Given the description of an element on the screen output the (x, y) to click on. 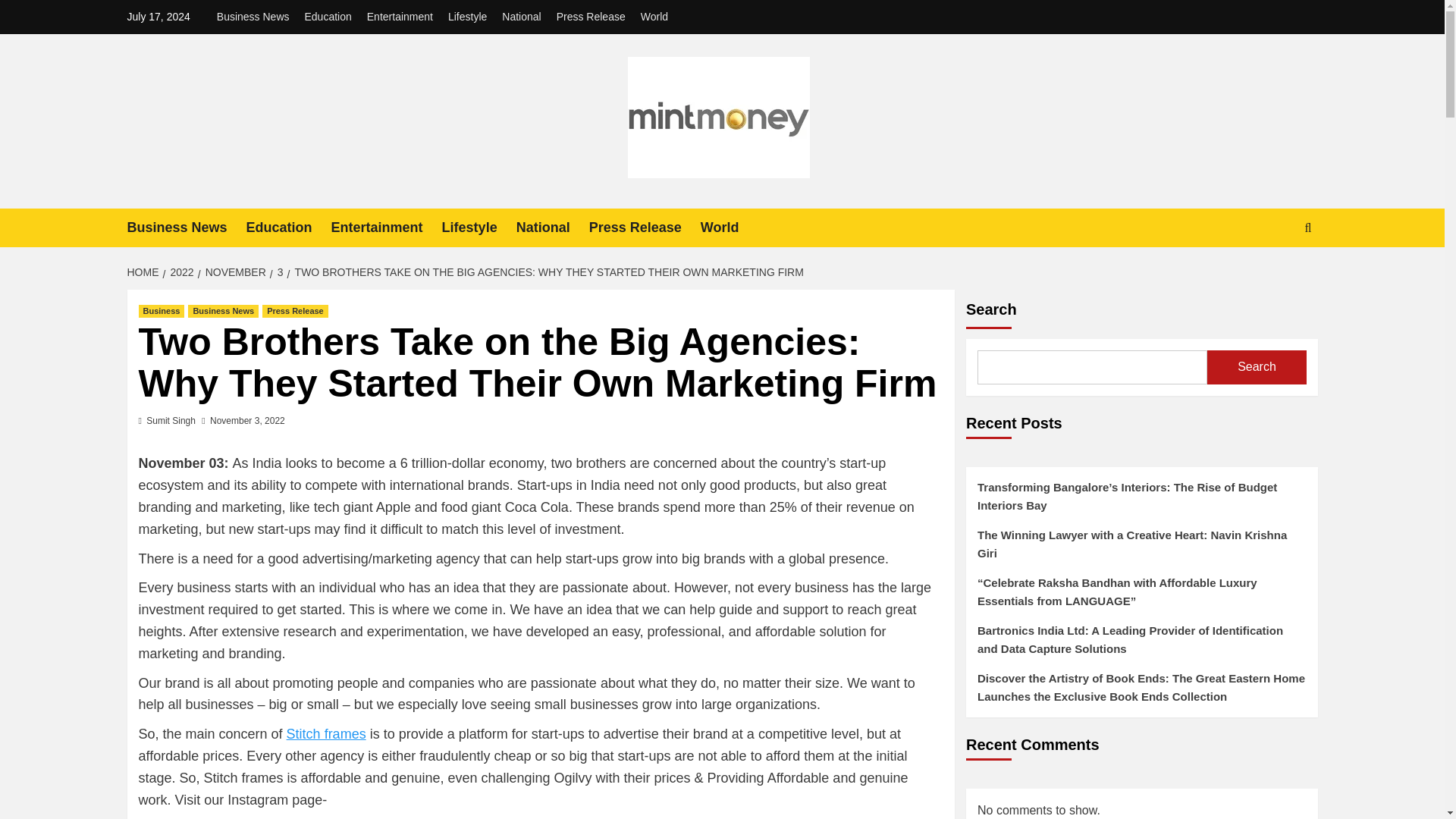
Business (161, 310)
Press Release (295, 310)
Press Release (590, 17)
Entertainment (400, 17)
Business News (256, 17)
Education (328, 17)
Lifestyle (468, 17)
2022 (178, 272)
Lifestyle (479, 227)
November 3, 2022 (247, 420)
World (729, 227)
HOME (145, 272)
Search (1272, 274)
Entertainment (386, 227)
